Given the description of an element on the screen output the (x, y) to click on. 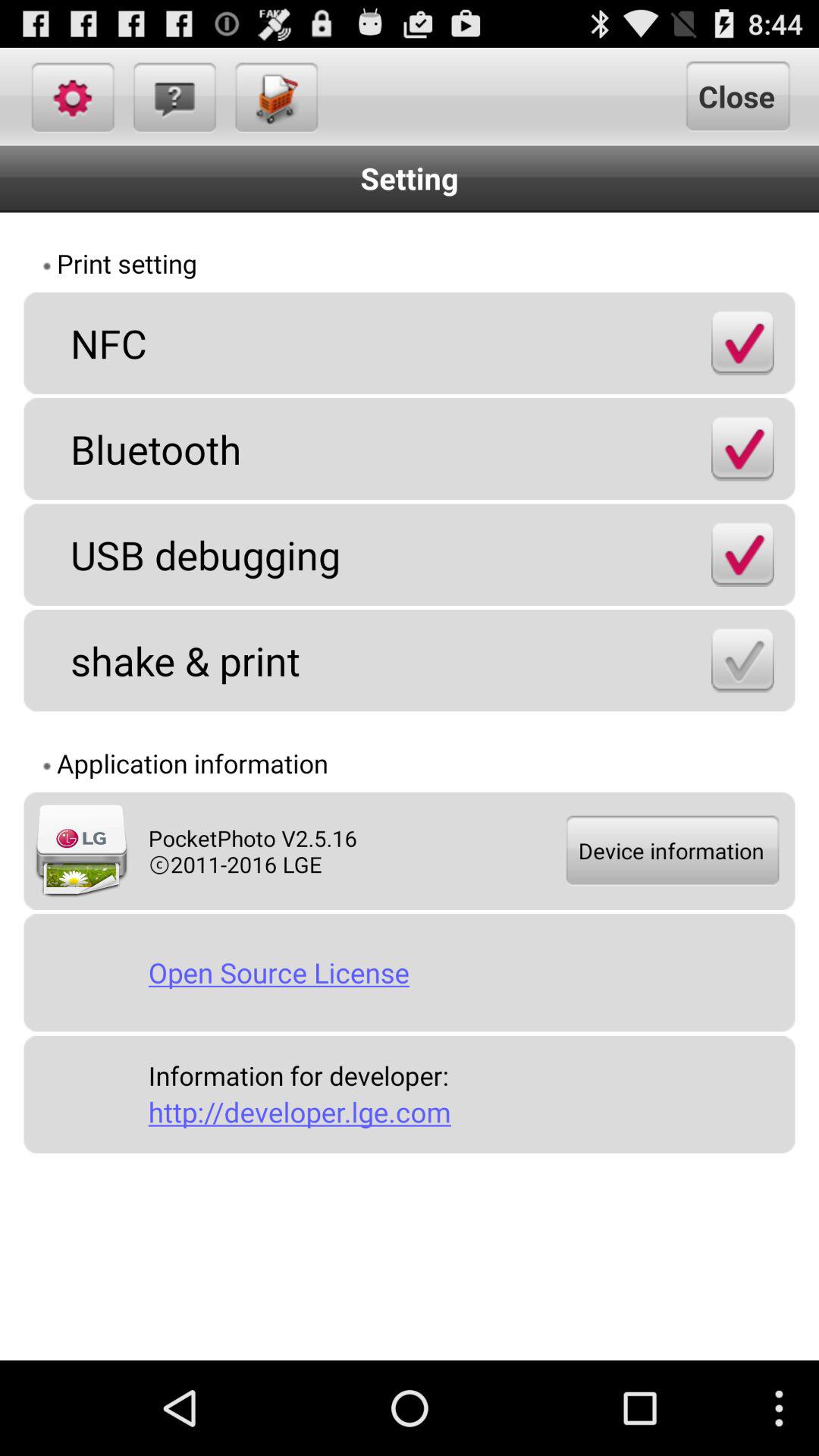
click button above device information item (742, 659)
